Given the description of an element on the screen output the (x, y) to click on. 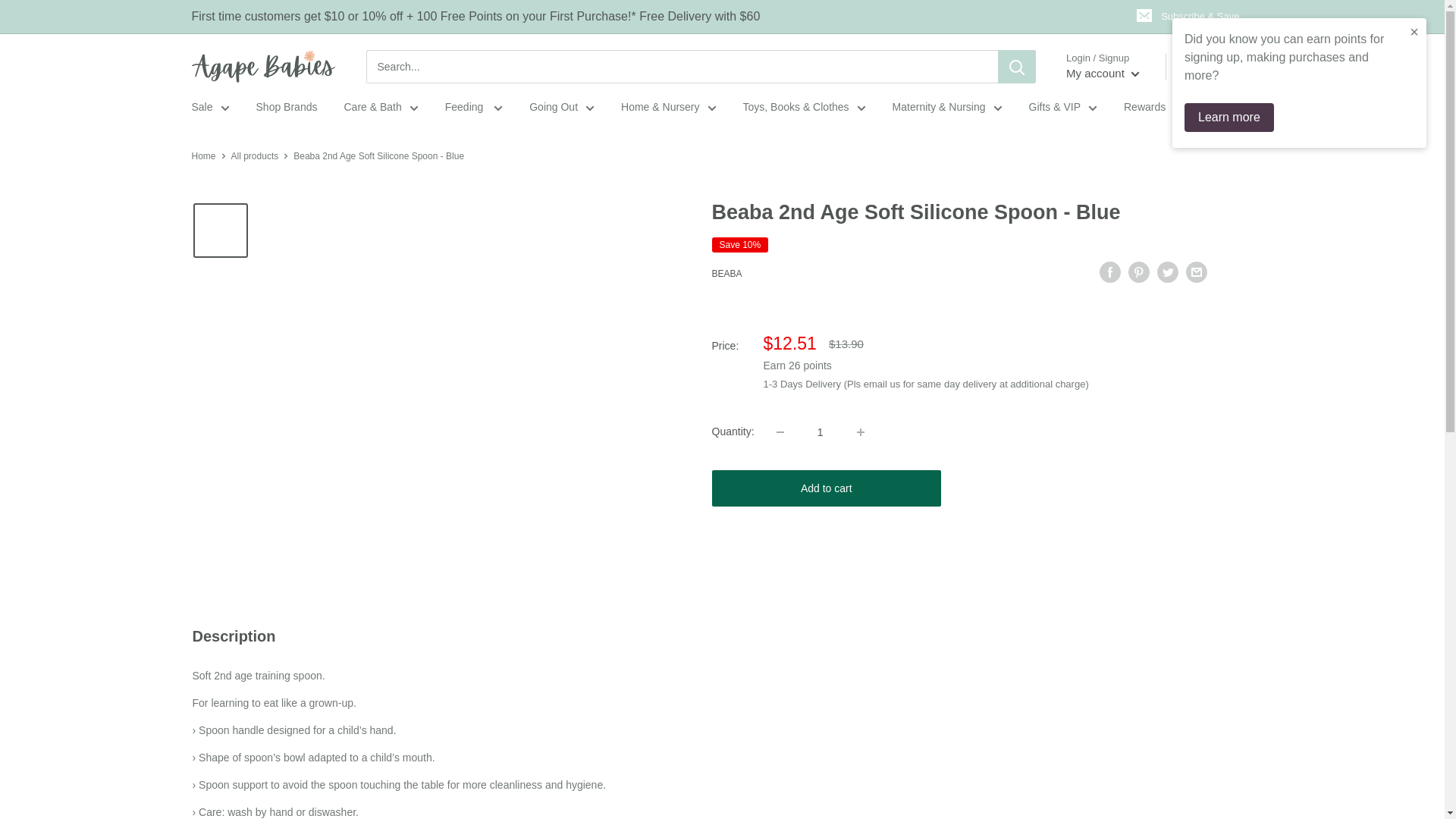
1 (820, 431)
Decrease quantity by 1 (780, 431)
Increase quantity by 1 (860, 431)
